Given the description of an element on the screen output the (x, y) to click on. 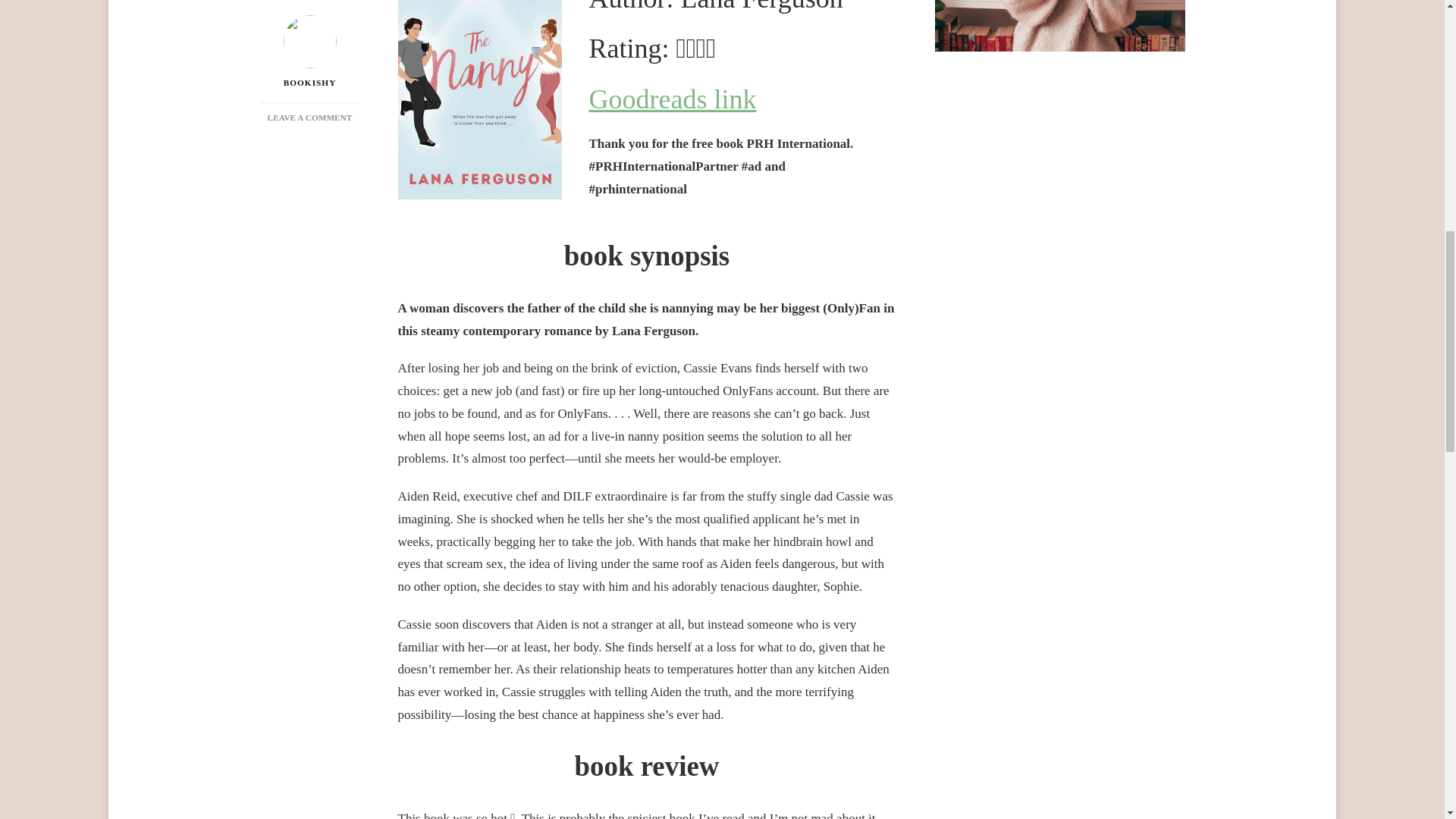
BOOKISHY (309, 31)
Goodreads link (309, 2)
